Given the description of an element on the screen output the (x, y) to click on. 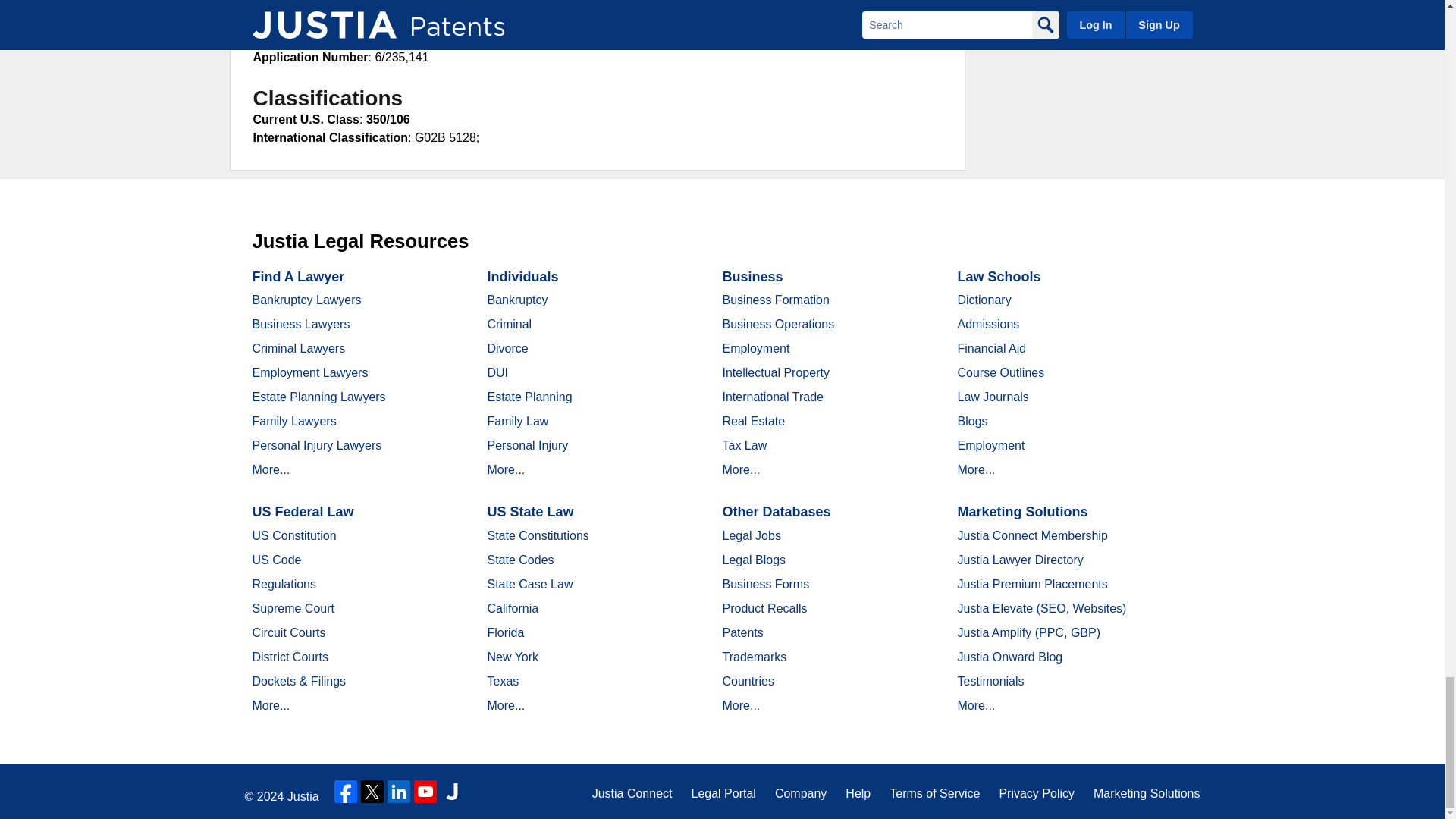
Facebook (345, 791)
YouTube (424, 791)
Twitter (372, 791)
Michael J. Striker (355, 38)
R. A. Rosenberger (412, 20)
Ludwig Eigenmann (358, 4)
LinkedIn (398, 791)
Justia Lawyer Directory (452, 791)
